Given the description of an element on the screen output the (x, y) to click on. 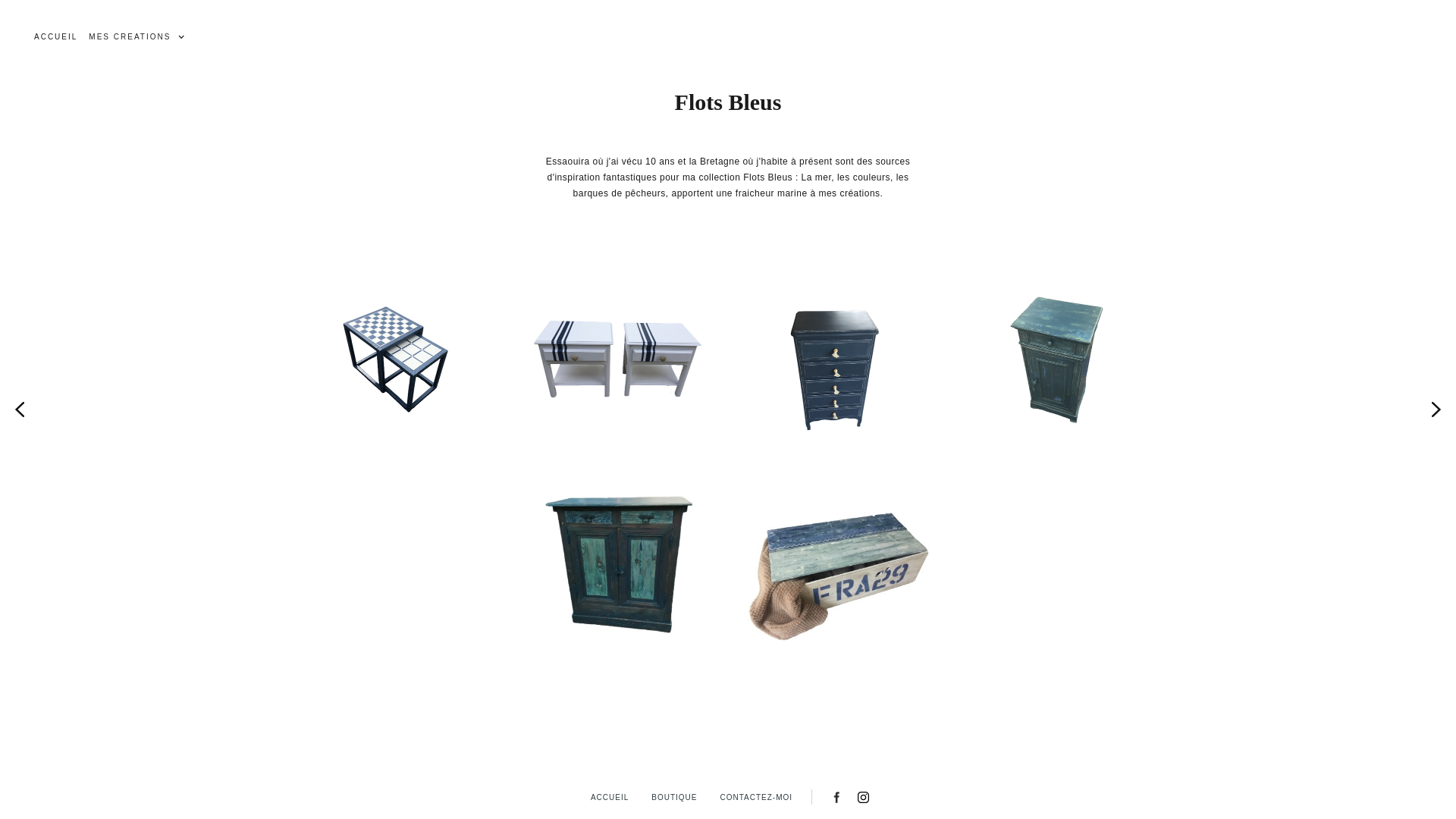
CHEVET Element type: text (617, 363)
ACCUEIL Element type: text (609, 797)
TABLE Element type: text (397, 363)
BUFFET Element type: text (617, 571)
COFFRE Element type: text (837, 571)
BOUTIQUE Element type: text (674, 797)
CONTACTEZ-MOI Element type: text (755, 797)
ACCUEIL Element type: text (55, 36)
CHEVET Element type: text (1057, 363)
COMMODE Element type: text (837, 363)
